Given the description of an element on the screen output the (x, y) to click on. 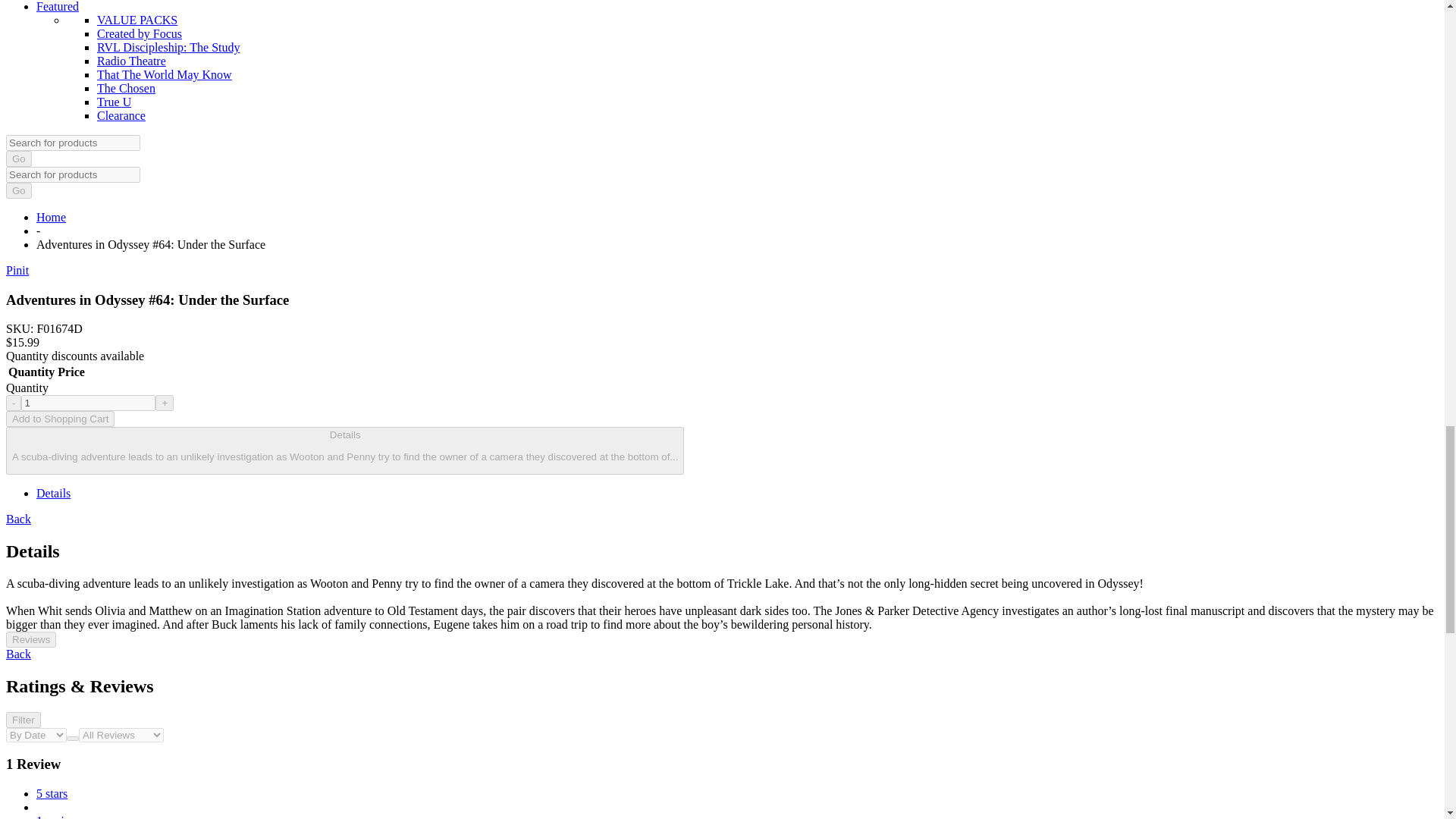
1 (88, 402)
